Given the description of an element on the screen output the (x, y) to click on. 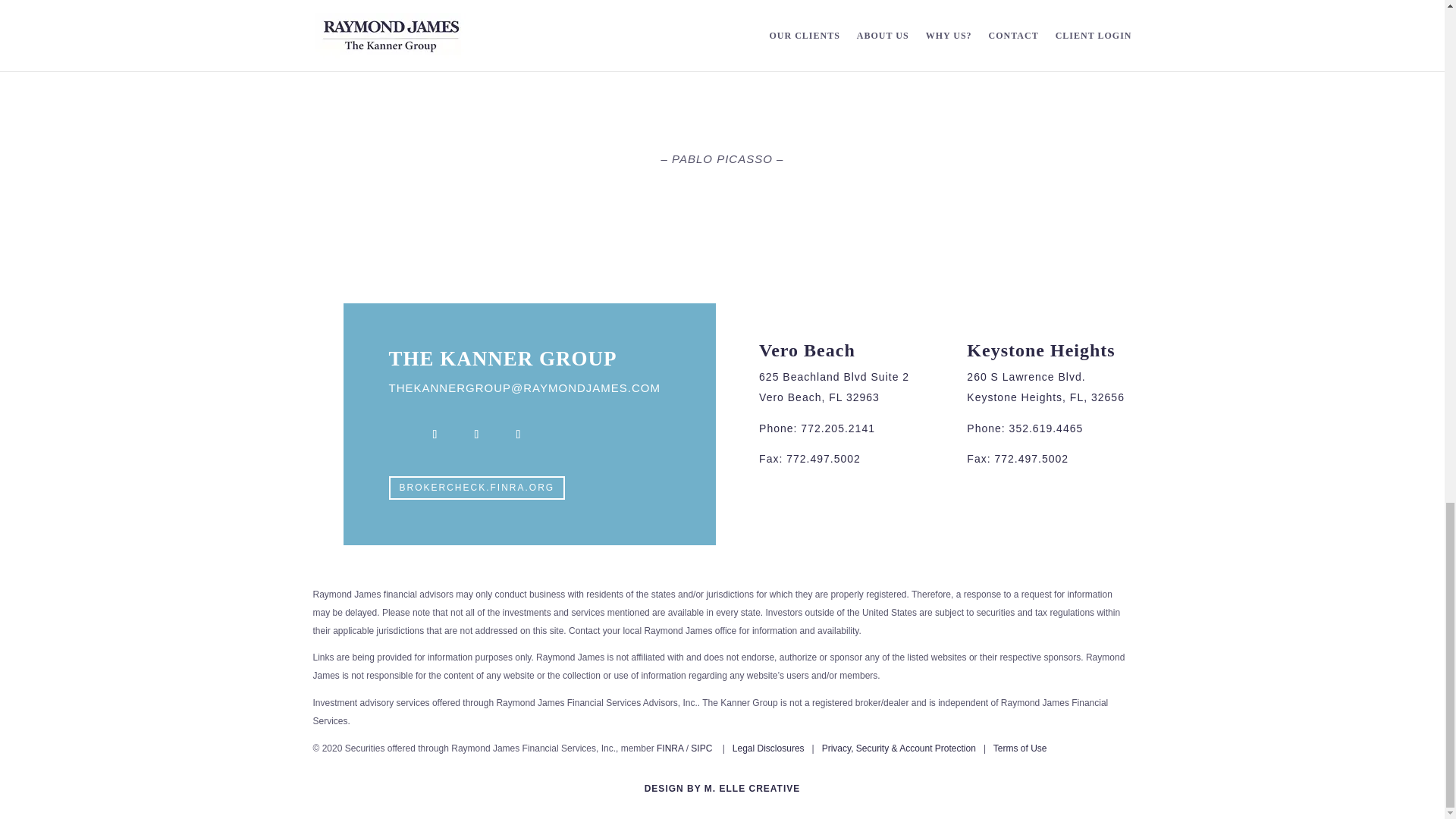
Follow on dbdb-mail (400, 434)
FINRA (669, 747)
Legal Disclosures (768, 747)
SIPC (700, 747)
Terms of Use (1019, 747)
Follow on Facebook (434, 434)
Follow on Twitter (477, 434)
Follow on LinkedIn (518, 434)
Privacy, Security and Account Protection (898, 747)
